Given the description of an element on the screen output the (x, y) to click on. 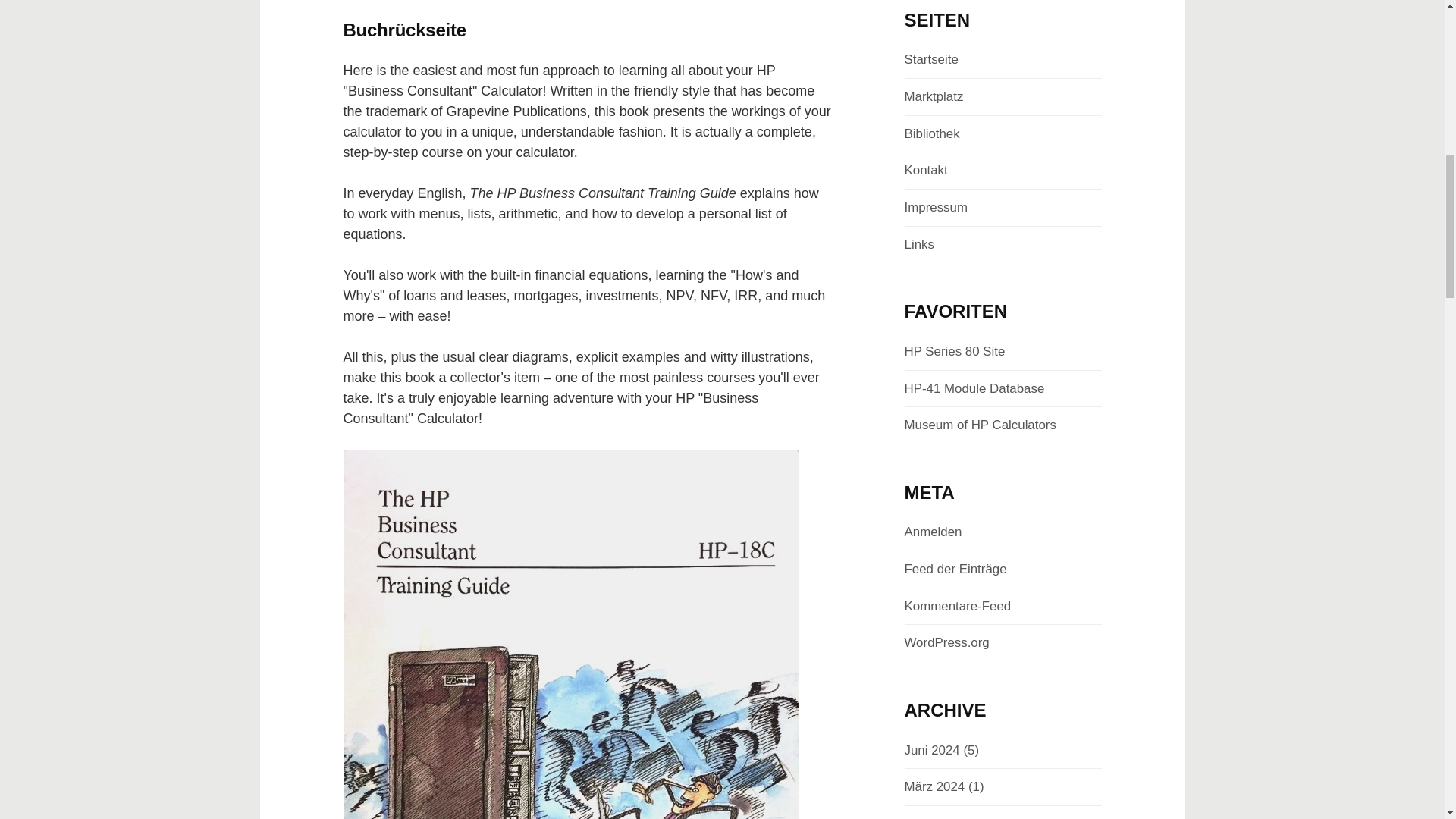
Marktplatz (933, 96)
HP-41 Module Database (973, 388)
Bibliothek (931, 133)
Museum of HP Calculators (979, 424)
HP Series 80 Site (954, 350)
Kontakt (925, 169)
Startseite (931, 59)
Impressum (935, 206)
Links (918, 244)
